Given the description of an element on the screen output the (x, y) to click on. 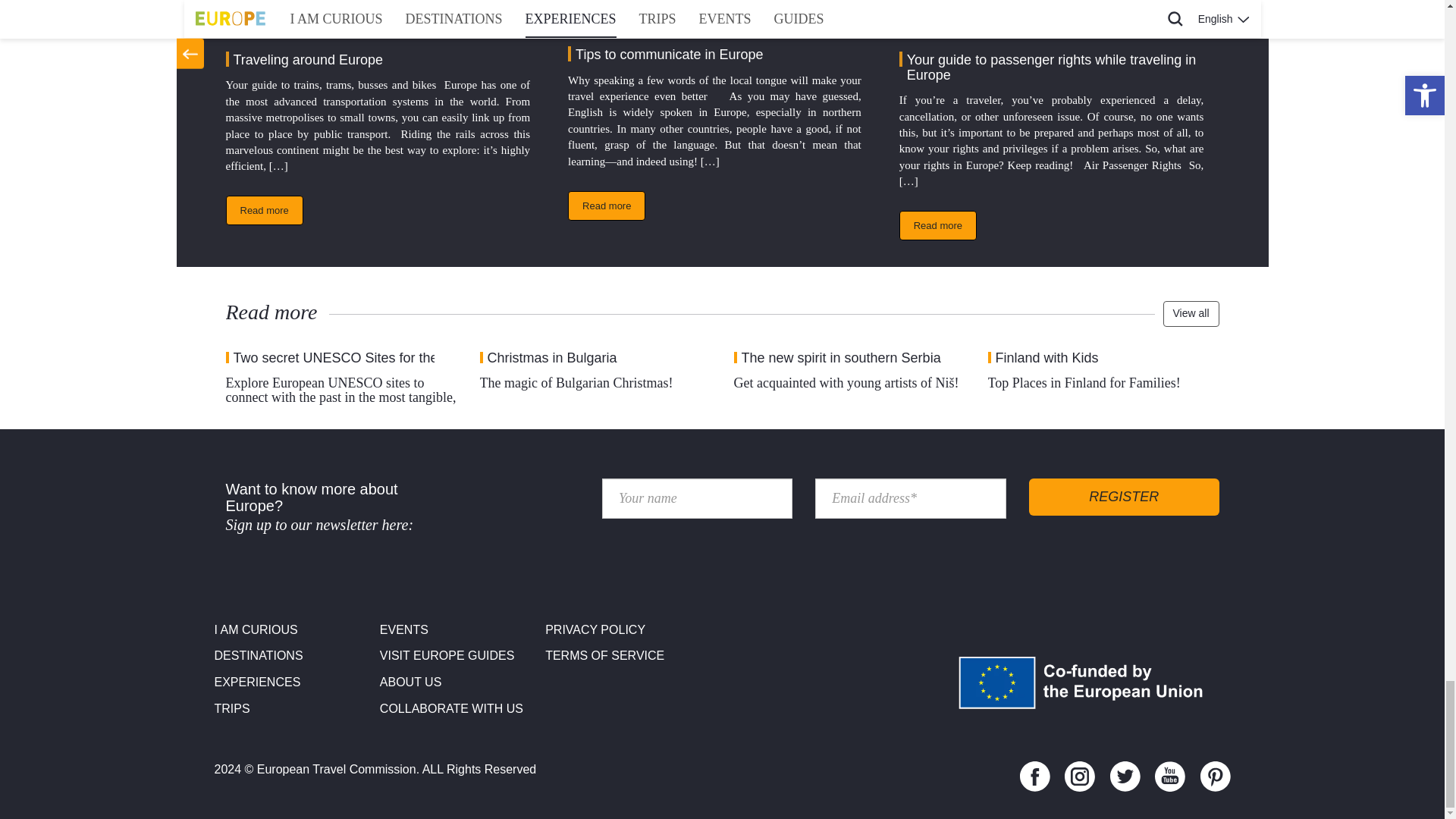
PRIVACY POLICY (621, 630)
COLLABORATE WITH US (457, 709)
Register (1124, 497)
TRIPS (291, 709)
ABOUT US (457, 682)
DESTINATIONS (291, 655)
EVENTS (457, 630)
I AM CURIOUS (291, 630)
VISIT EUROPE GUIDES (457, 655)
EXPERIENCES (291, 682)
